Given the description of an element on the screen output the (x, y) to click on. 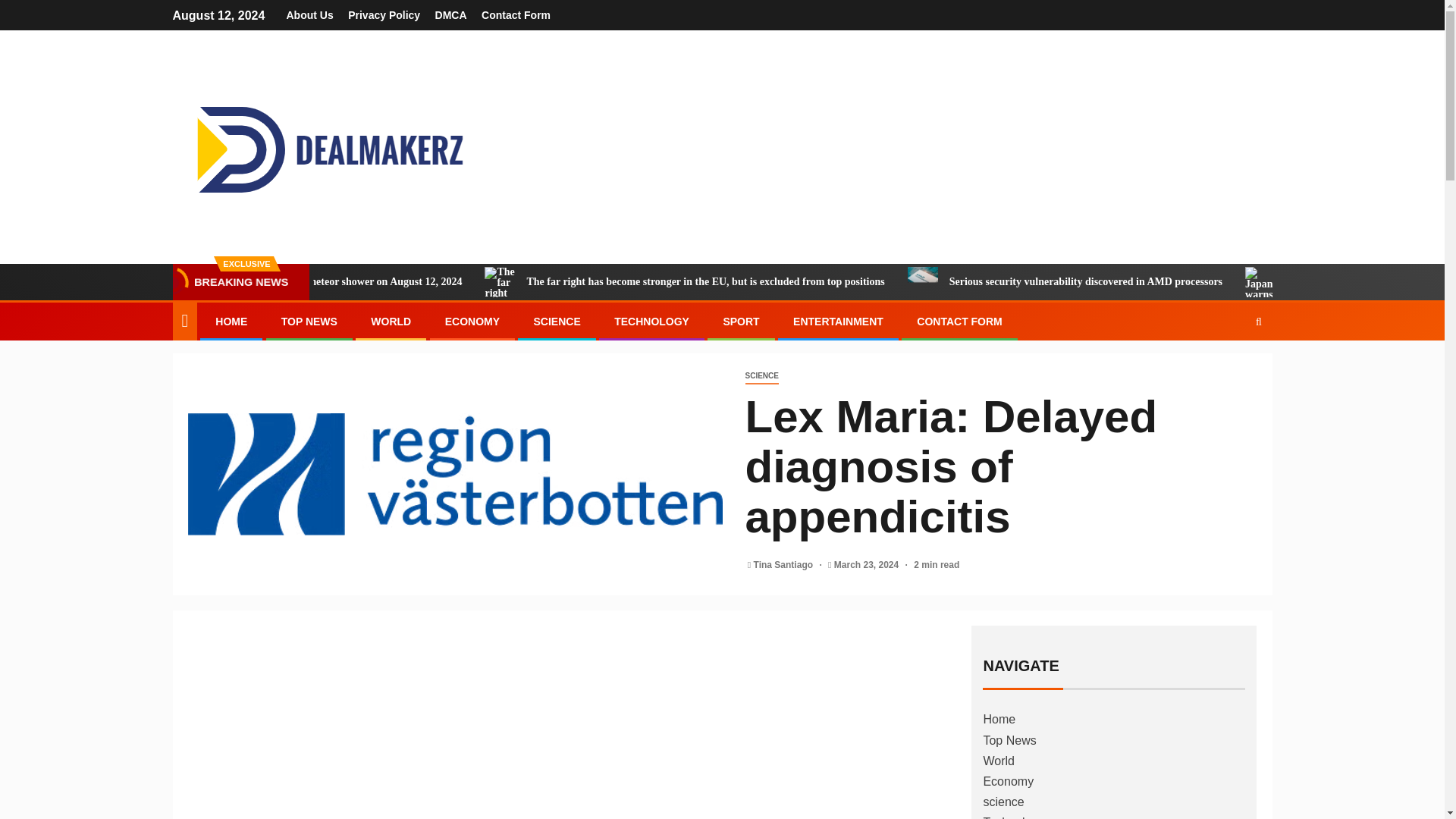
SCIENCE (555, 321)
WORLD (390, 321)
TECHNOLOGY (651, 321)
SCIENCE (760, 376)
SPORT (740, 321)
TOP NEWS (309, 321)
Contact Form (515, 15)
Search (1229, 367)
DMCA (451, 15)
Serious security vulnerability discovered in AMD processors (1010, 281)
